Given the description of an element on the screen output the (x, y) to click on. 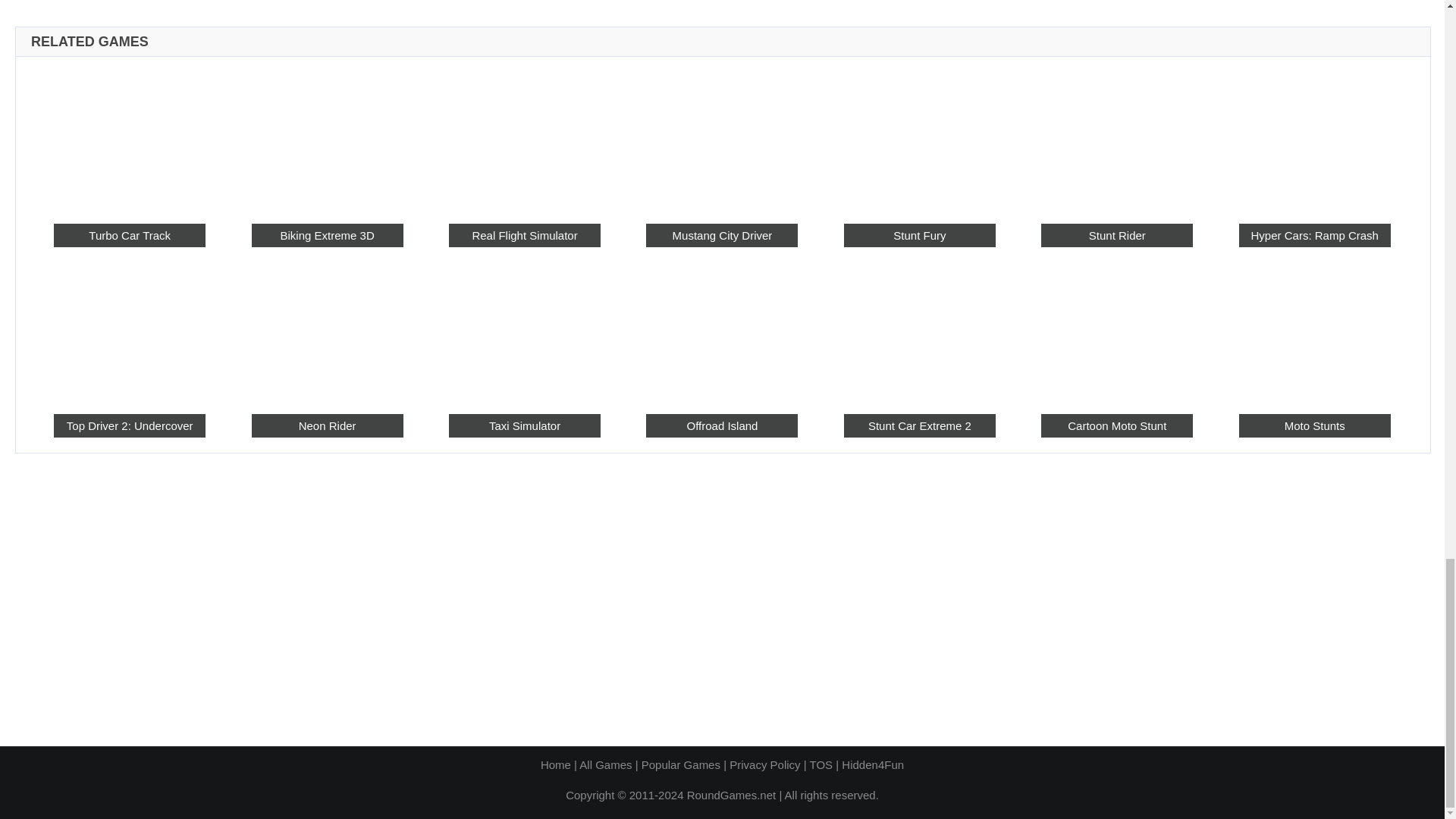
Turbo Car Track (129, 235)
Turbo Car Track (129, 138)
Real Flight Simulator (523, 235)
Biking Extreme 3D (327, 138)
Stunt Rider (1116, 138)
Mustang City Driver (721, 138)
Real Flight Simulator (523, 138)
Stunt Fury (919, 138)
Biking Extreme 3D (327, 235)
Stunt Fury (919, 235)
